Given the description of an element on the screen output the (x, y) to click on. 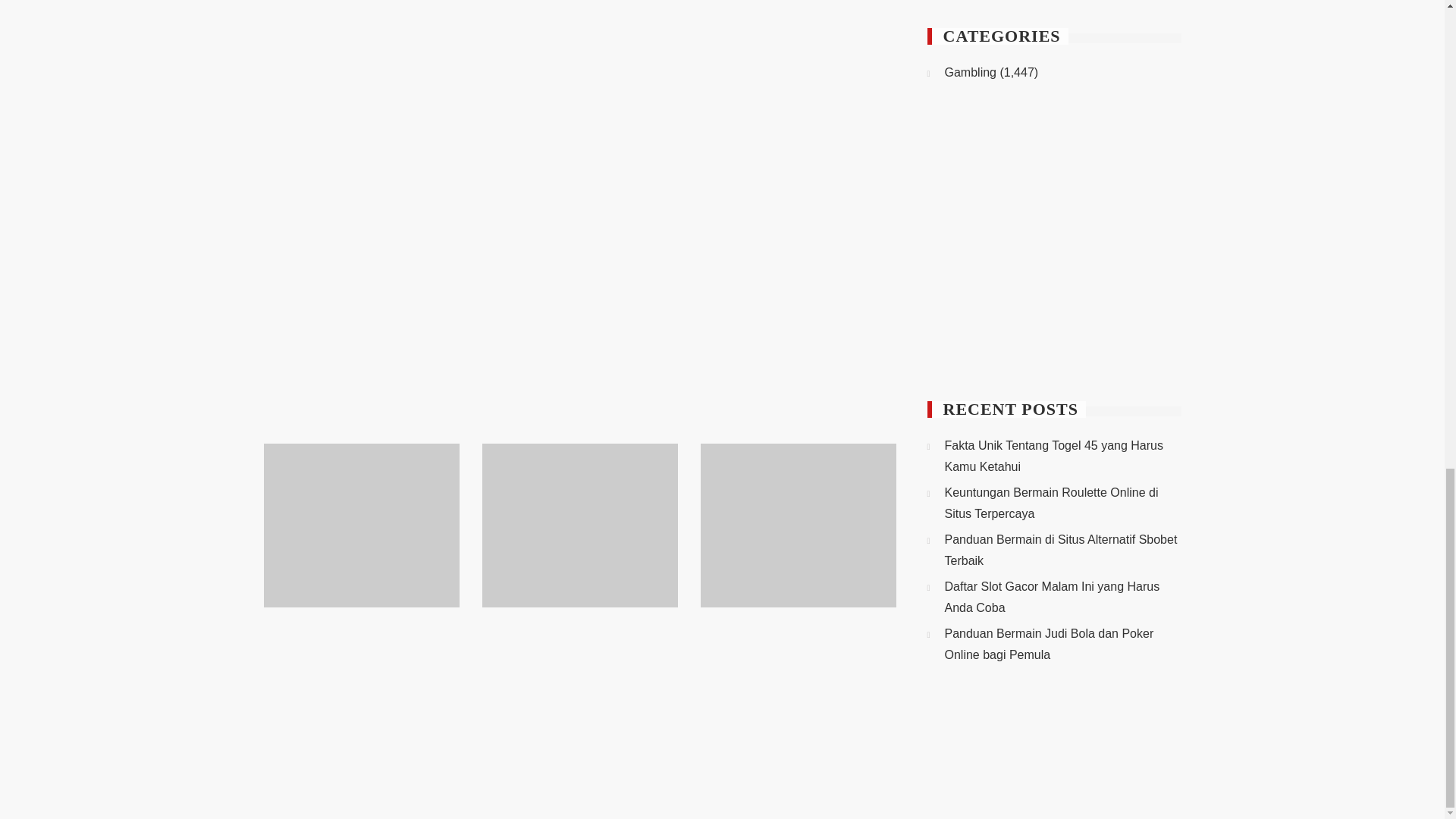
Panduan Bermain di Situs Alternatif Sbobet Terbaik (794, 670)
Tuesday (981, 164)
Fakta Unik Tentang Togel 45 yang Harus Kamu Ketahui (354, 681)
Saturday (1125, 164)
Thursday (1053, 164)
Friday (1089, 164)
Wednesday (1017, 164)
What is Lotto? (319, 316)
Sunday (1160, 164)
Monday (945, 164)
